Given the description of an element on the screen output the (x, y) to click on. 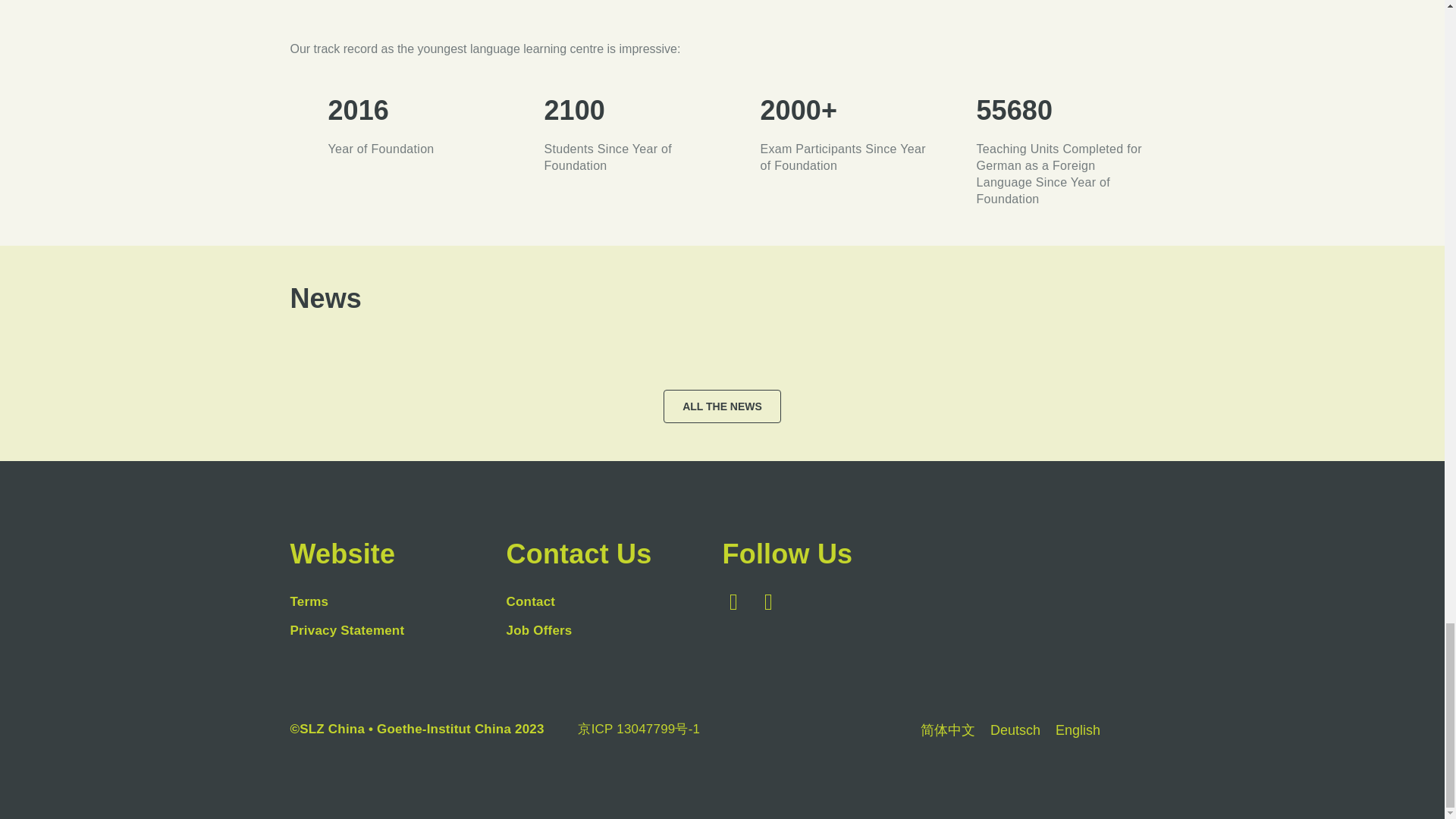
Job Offers (614, 630)
ALL THE NEWS (721, 406)
Privacy Statement (397, 630)
Terms (397, 601)
Contact (614, 601)
